Given the description of an element on the screen output the (x, y) to click on. 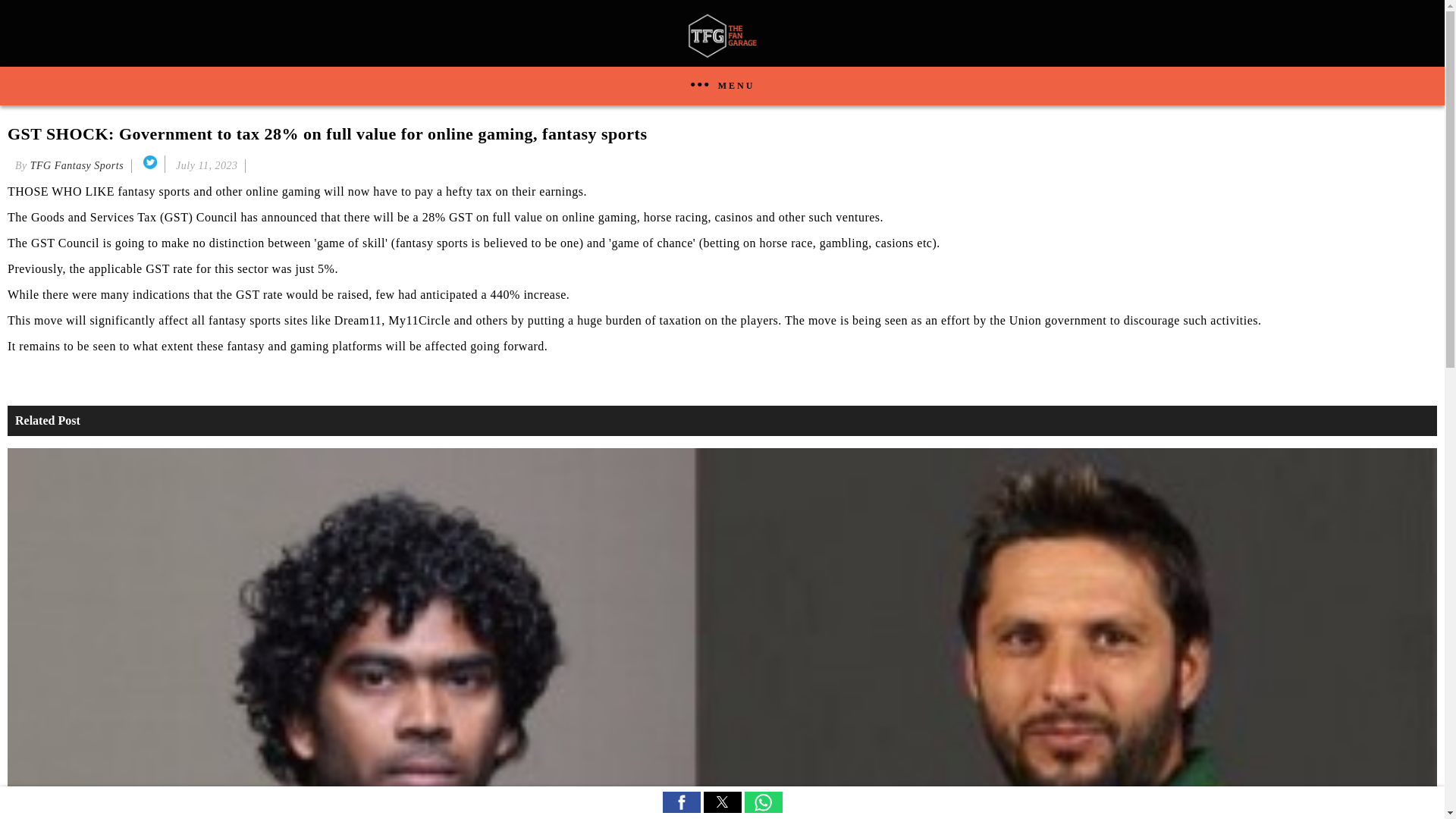
TFG Fantasy Sports (76, 165)
